Given the description of an element on the screen output the (x, y) to click on. 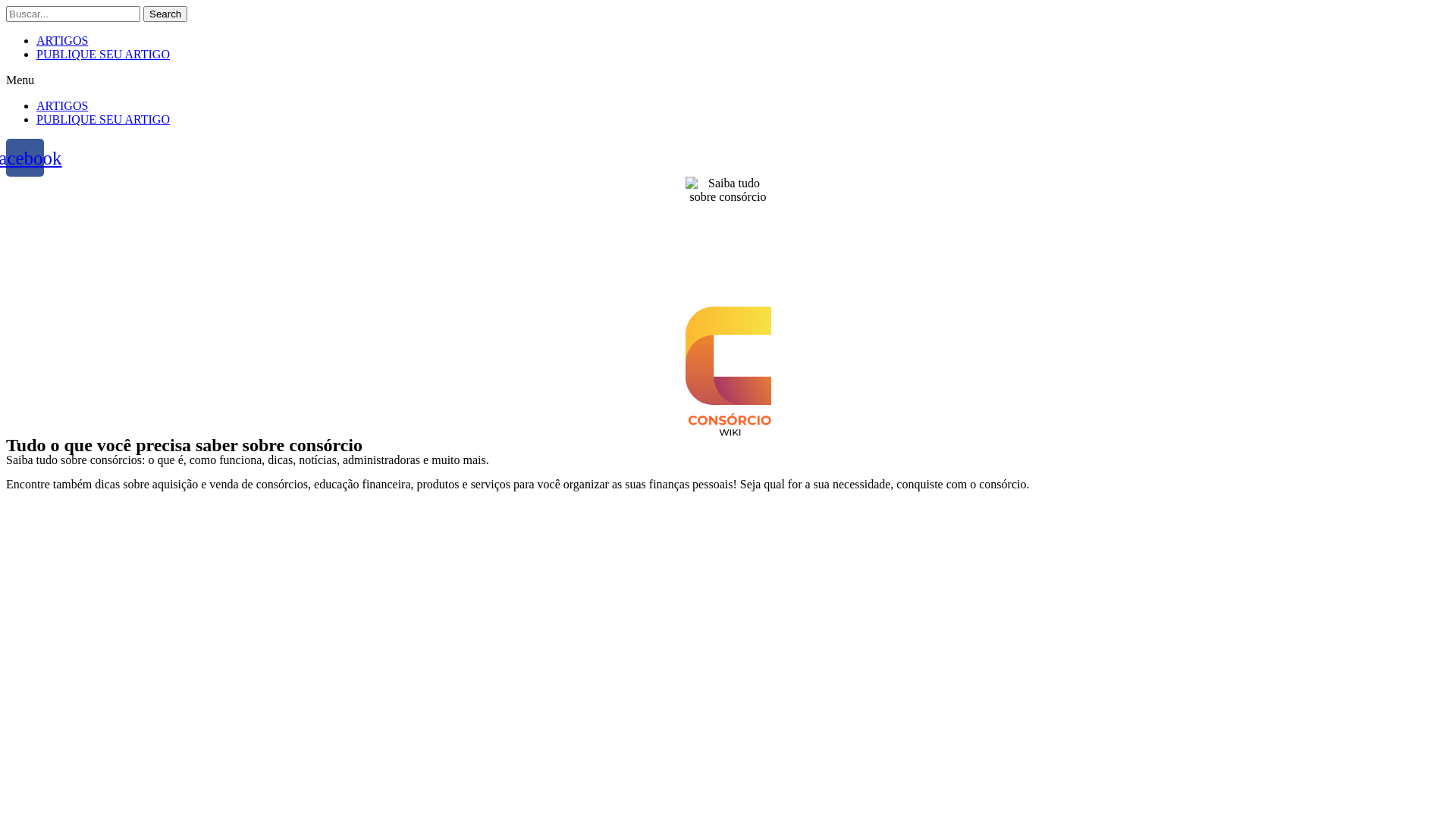
Search Element type: hover (73, 13)
Search Element type: text (165, 13)
ARTIGOS Element type: text (61, 105)
PUBLIQUE SEU ARTIGO Element type: text (102, 118)
PUBLIQUE SEU ARTIGO Element type: text (102, 53)
ARTIGOS Element type: text (61, 40)
Facebook Element type: text (24, 157)
